Given the description of an element on the screen output the (x, y) to click on. 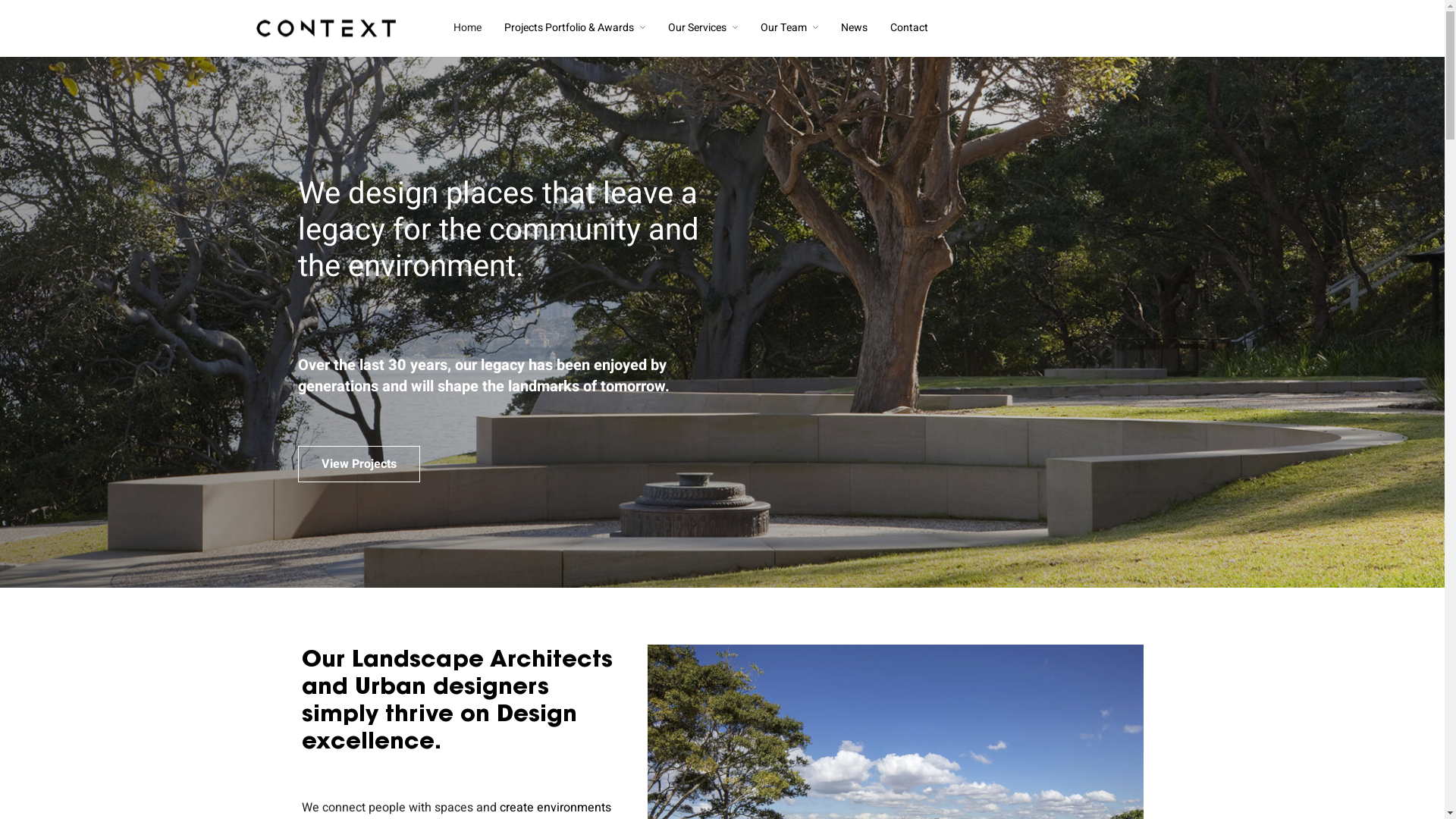
context@context.net.au Element type: text (354, 729)
LinkedIn Element type: text (793, 712)
Our Services Element type: text (702, 27)
Our Team Element type: text (789, 27)
AILA - Context Element type: hover (542, 732)
Home Element type: text (467, 27)
Projects Portfolio & Awards Element type: text (574, 27)
Instagram Element type: text (797, 694)
News Element type: text (853, 27)
Contact Element type: text (909, 27)
View Projects Element type: text (358, 463)
